Given the description of an element on the screen output the (x, y) to click on. 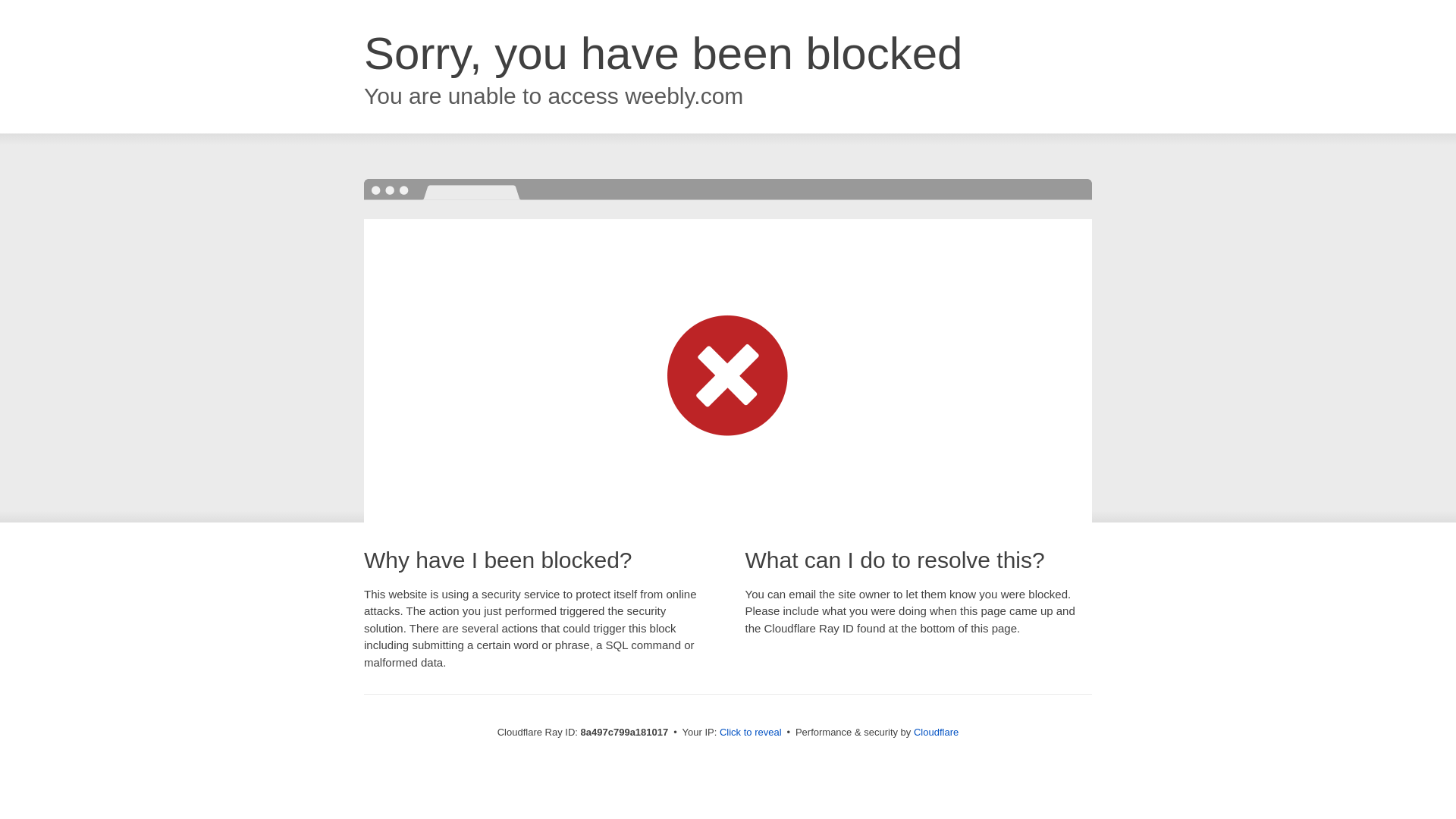
Cloudflare (936, 731)
Click to reveal (750, 732)
